Given the description of an element on the screen output the (x, y) to click on. 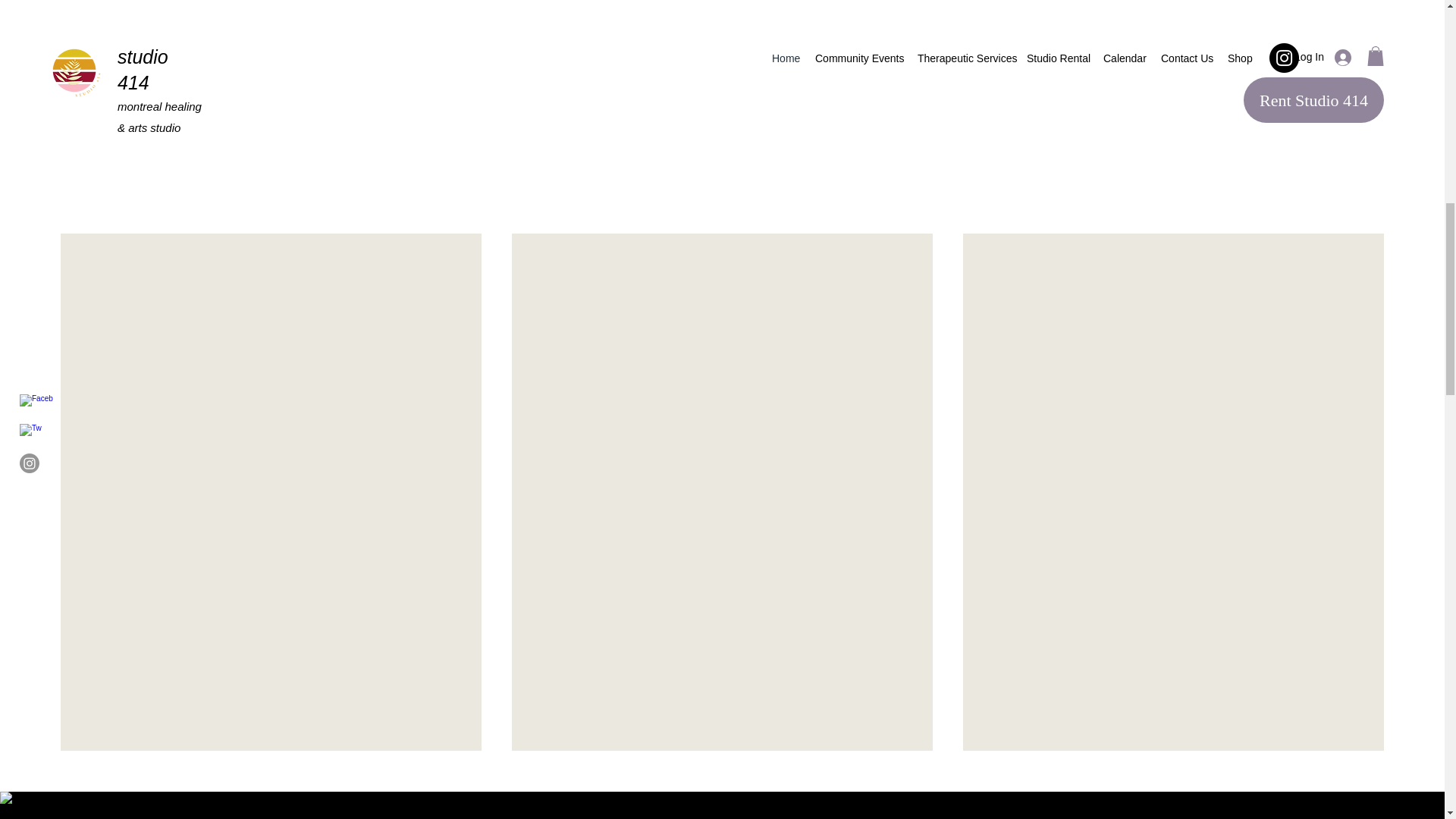
Therapeutic (727, 31)
Studio (269, 31)
Community (1178, 31)
Services (727, 59)
Rental (269, 59)
Events (1178, 59)
